Given the description of an element on the screen output the (x, y) to click on. 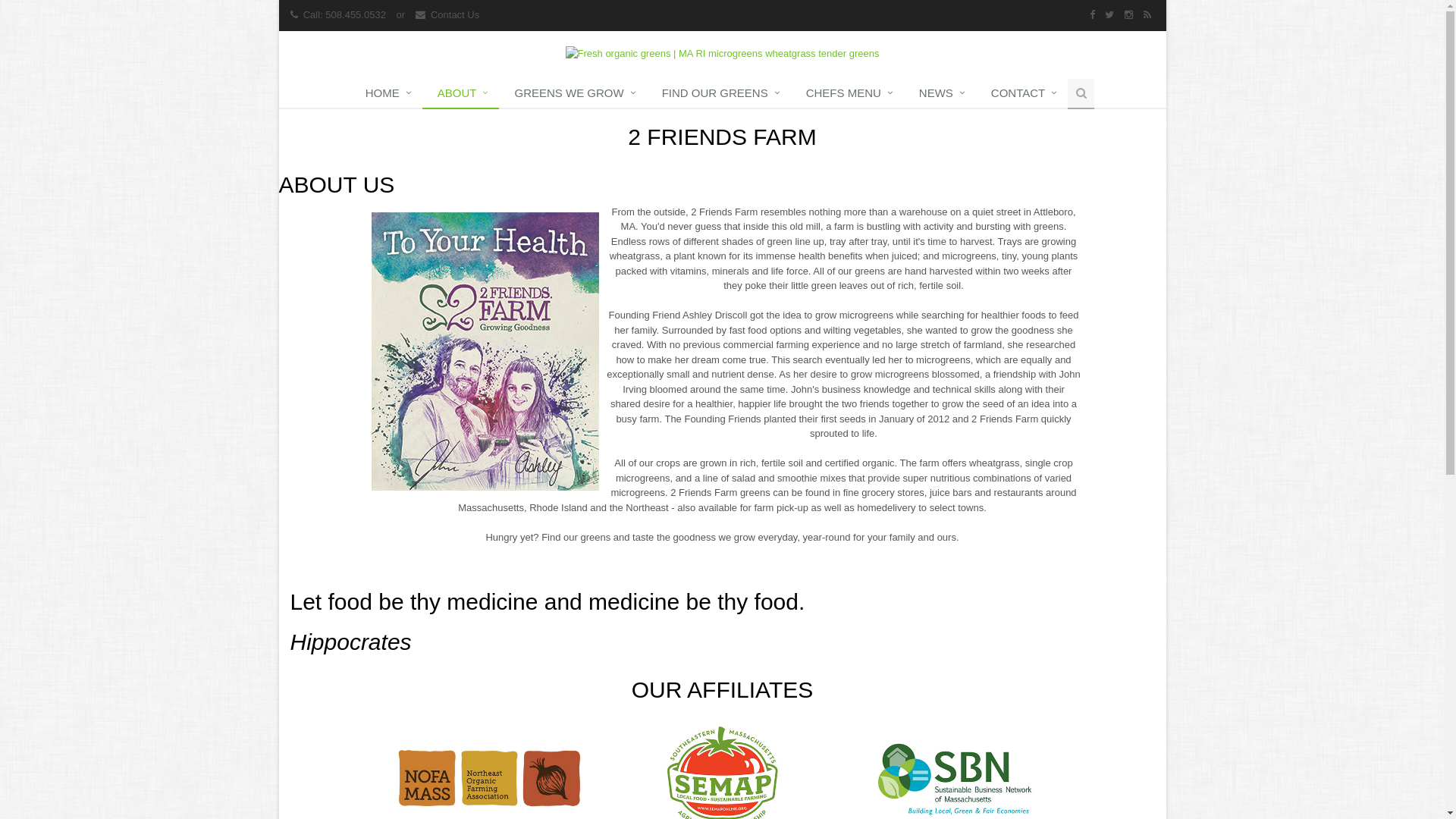
CHEFS MENU Element type: text (846, 93)
NEWS Element type: text (939, 93)
CONTACT Element type: text (1021, 93)
HOME Element type: text (386, 93)
GREENS WE GROW Element type: text (572, 93)
Contact Us Element type: text (454, 14)
FIND OUR GREENS Element type: text (718, 93)
ABOUT Element type: text (460, 93)
508.455.0532 Element type: text (355, 14)
